Given the description of an element on the screen output the (x, y) to click on. 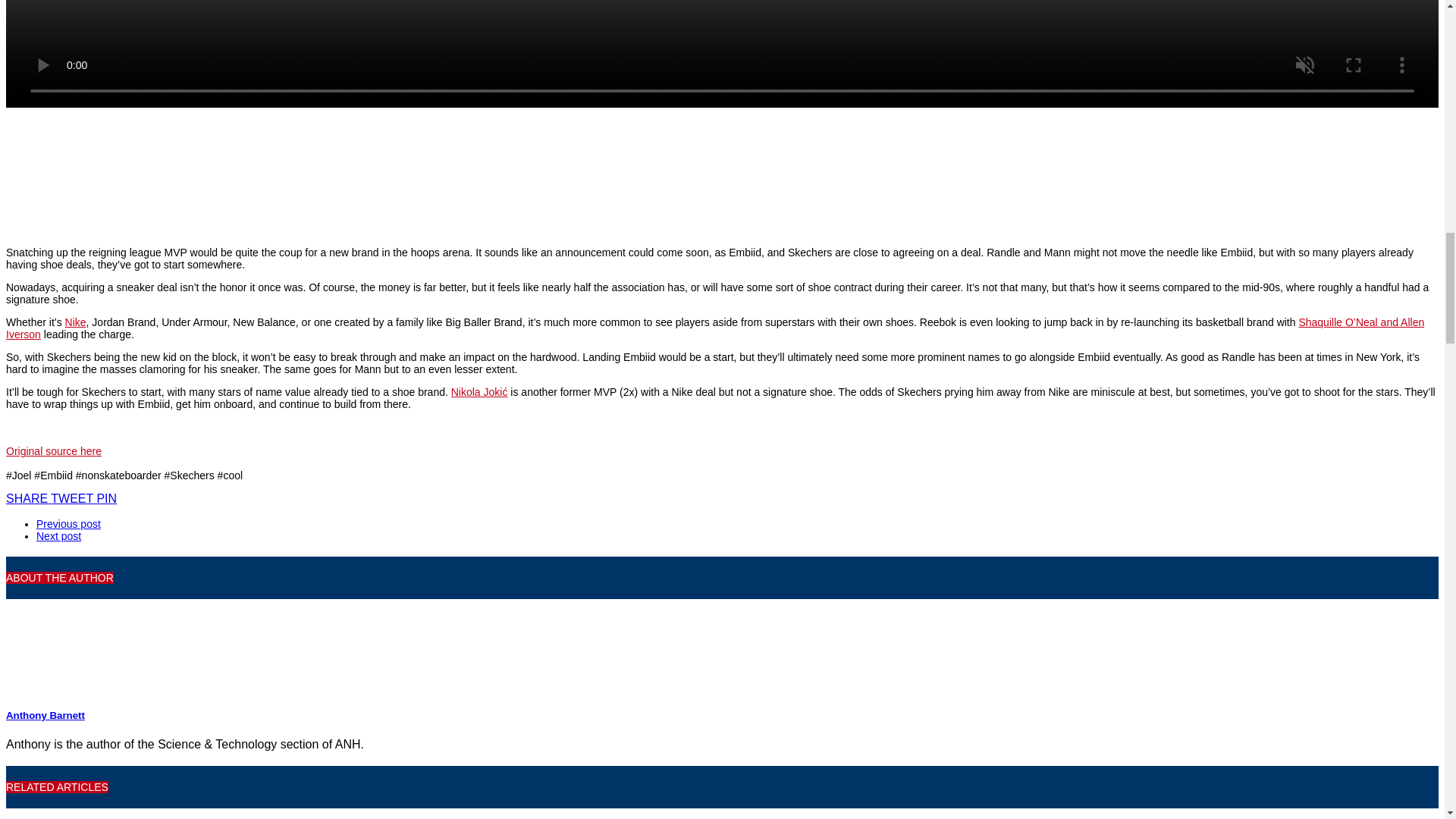
Tweet This Post (73, 498)
Share on Facebook (27, 498)
Pin This Post (106, 498)
